Given the description of an element on the screen output the (x, y) to click on. 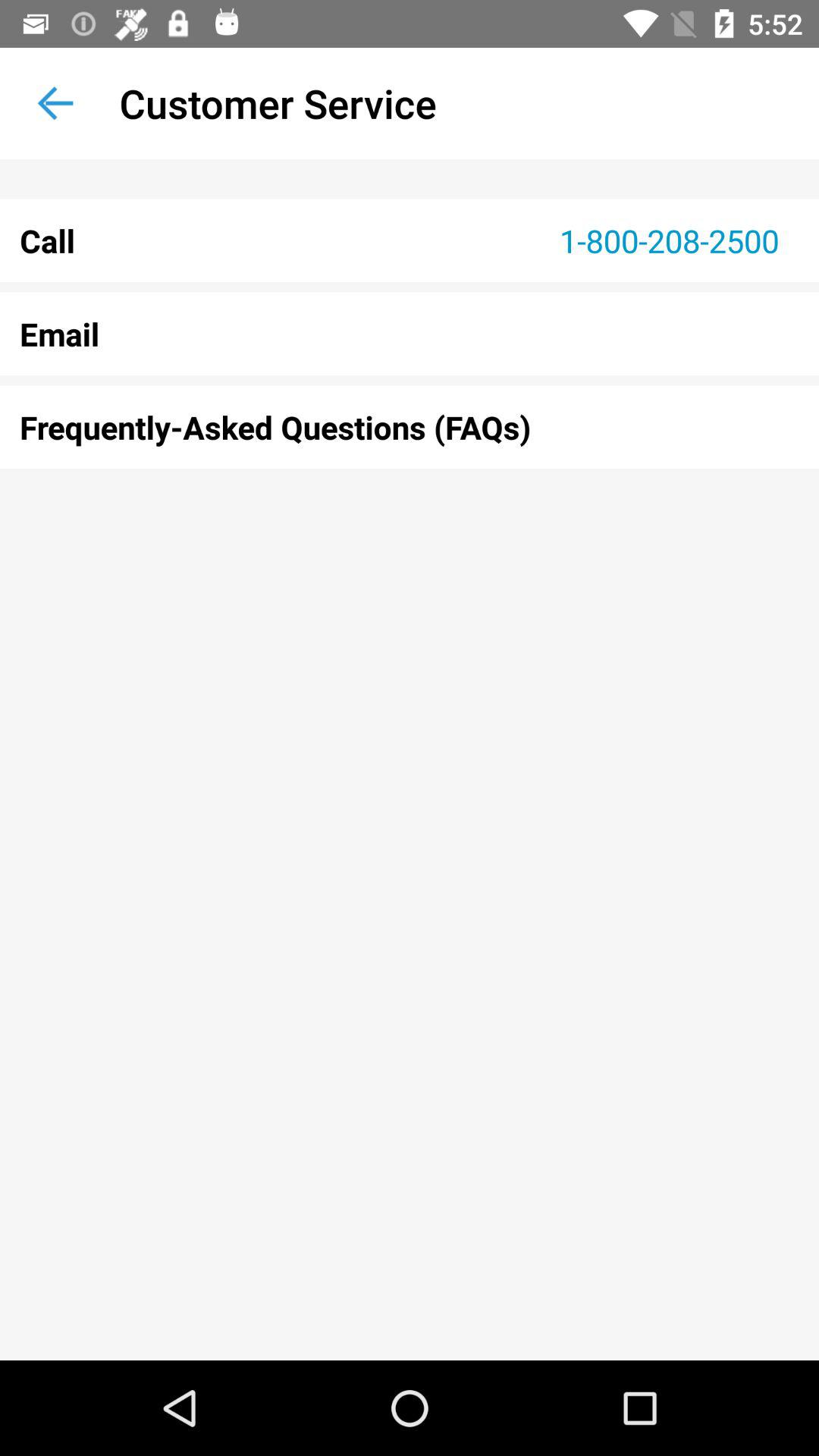
scroll to the email item (409, 333)
